Given the description of an element on the screen output the (x, y) to click on. 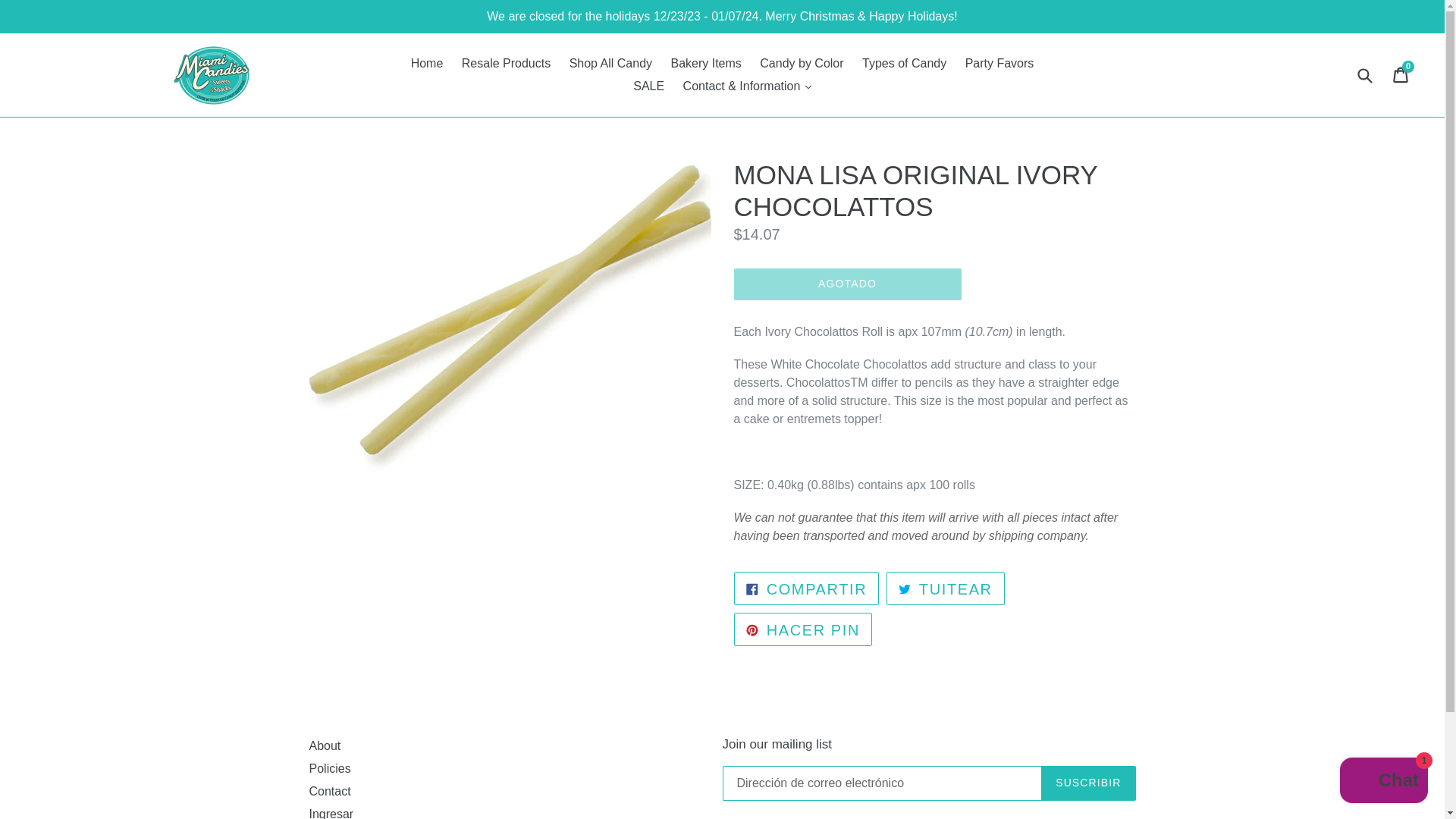
AGOTADO (846, 284)
Pinear en Pinterest (802, 629)
SALE (802, 629)
Resale Products (648, 86)
Compartir en Facebook (505, 63)
Shop All Candy (945, 588)
Chat de la tienda online Shopify (806, 588)
Bakery Items (806, 588)
Party Favors (610, 63)
Types of Candy (1383, 781)
Tuitear en Twitter (705, 63)
Candy by Color (1000, 63)
